Given the description of an element on the screen output the (x, y) to click on. 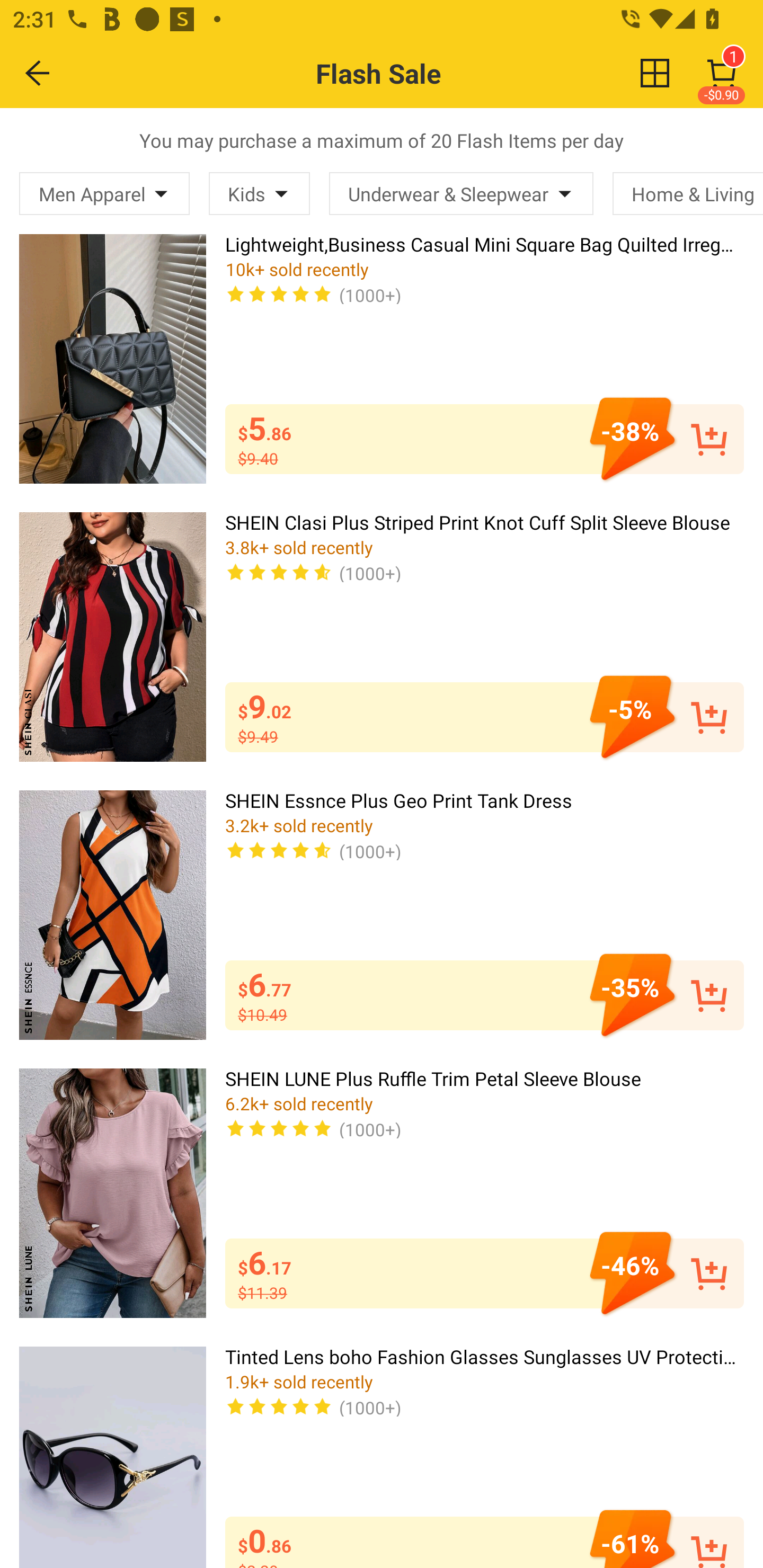
Flash Sale change view 1 -$0.90 (419, 72)
1 -$0.90 (721, 72)
change view (654, 72)
BACK (38, 72)
Men Apparel (104, 193)
Kids (259, 193)
Underwear & Sleepwear (460, 193)
Home & Living (687, 193)
SHEIN Essnce Plus Geo Print Tank Dress (112, 914)
SHEIN LUNE Plus Ruffle Trim Petal Sleeve Blouse (112, 1192)
